Given the description of an element on the screen output the (x, y) to click on. 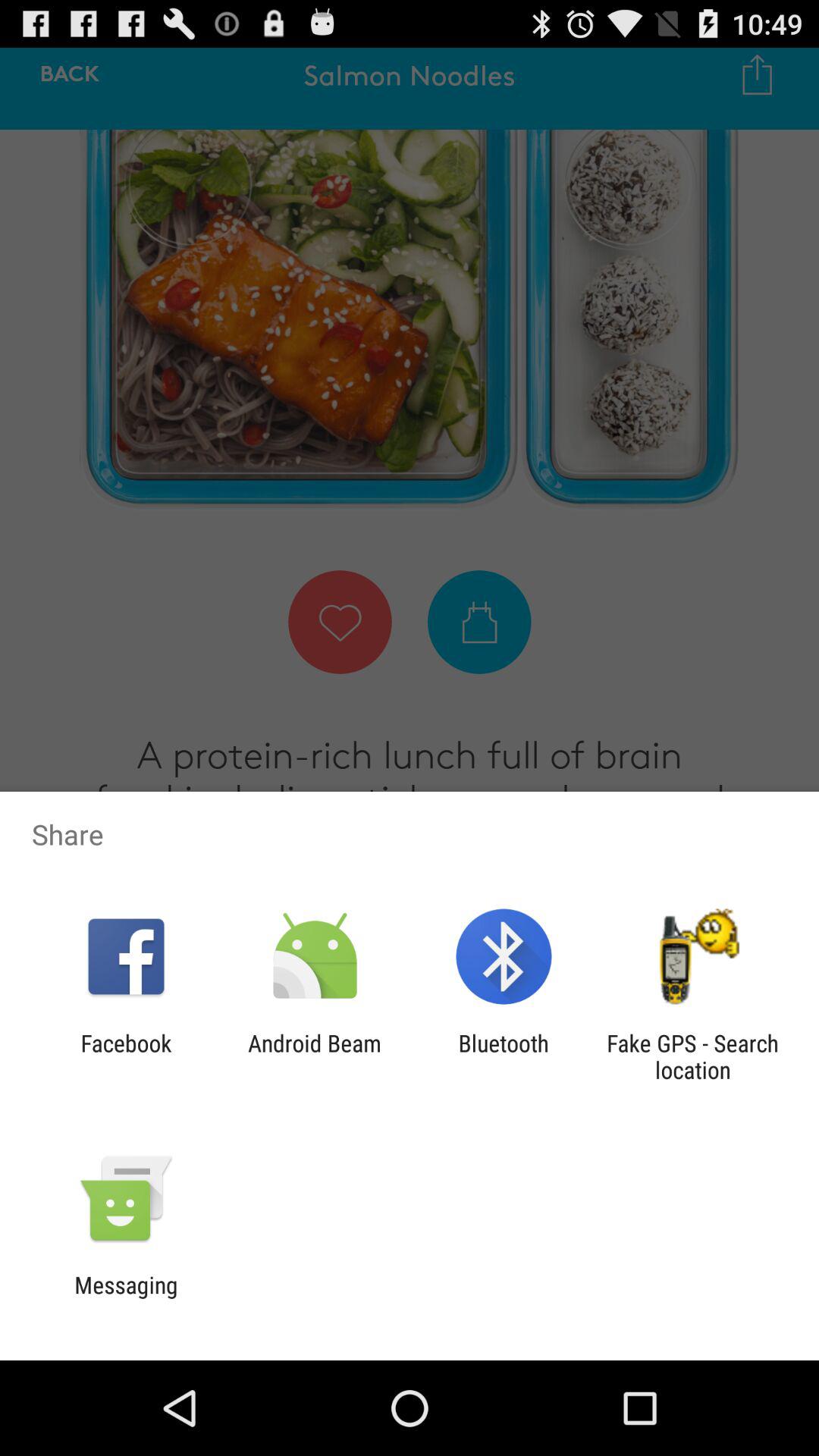
choose item to the left of the fake gps search item (503, 1056)
